Given the description of an element on the screen output the (x, y) to click on. 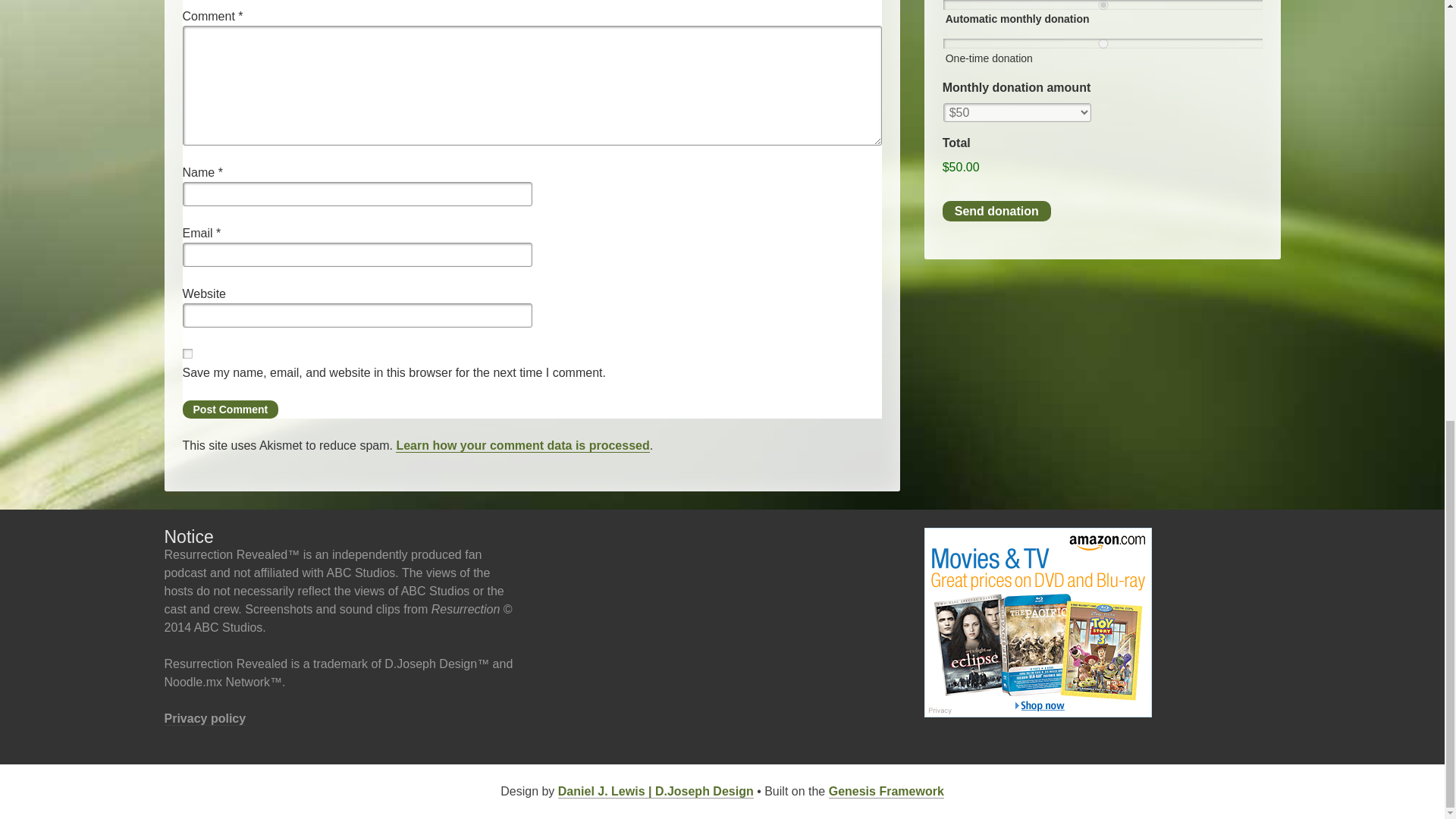
Post Comment (230, 409)
One-time donation (1103, 43)
Send donation (996, 210)
Post Comment (230, 409)
Learn how your comment data is processed (522, 445)
Privacy policy (204, 718)
yes (187, 353)
Genesis Framework (885, 791)
Automatic monthly donation (1103, 4)
Send donation (996, 210)
